Given the description of an element on the screen output the (x, y) to click on. 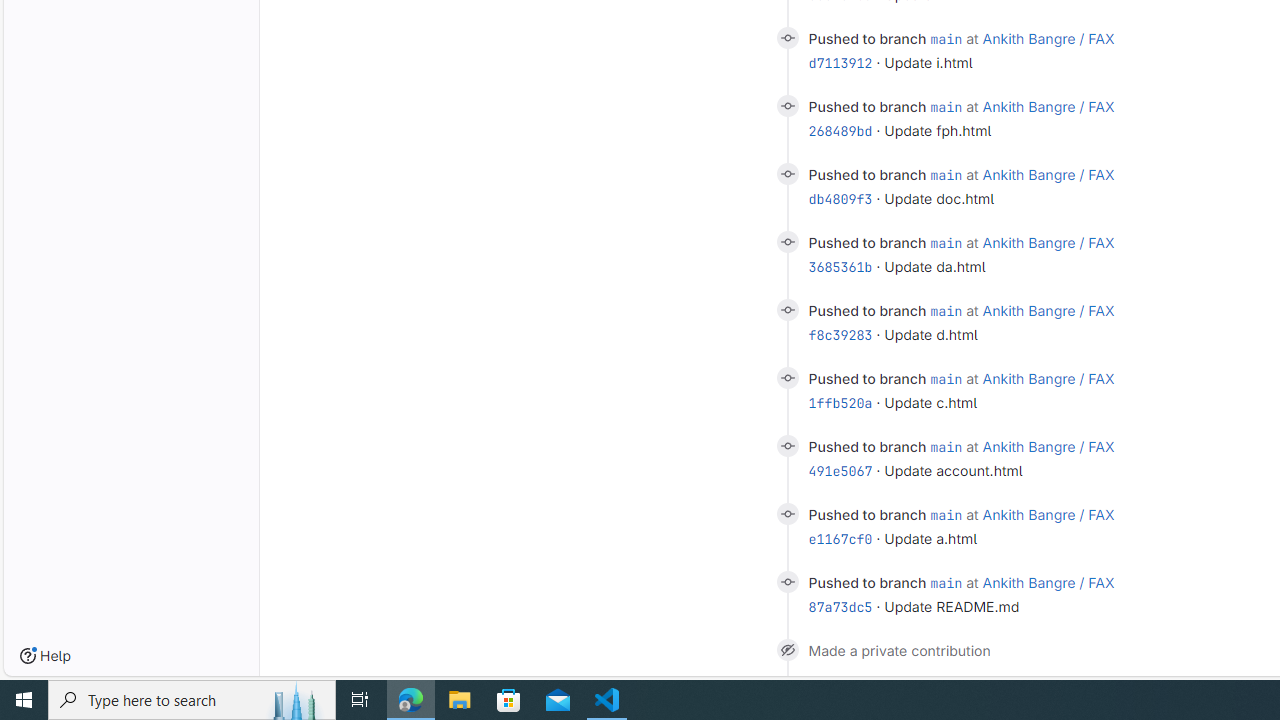
f8c39283 (839, 335)
1ffb520a (839, 402)
268489bd (839, 130)
491e5067 (839, 471)
main (946, 582)
db4809f3 (839, 199)
d7113912 (839, 63)
Ankith Bangre / FAX (1047, 582)
Class: s14 (786, 581)
Class: s14 icon (786, 649)
Help (45, 655)
e1167cf0 (839, 538)
3685361b (839, 266)
87a73dc5 (839, 607)
